Given the description of an element on the screen output the (x, y) to click on. 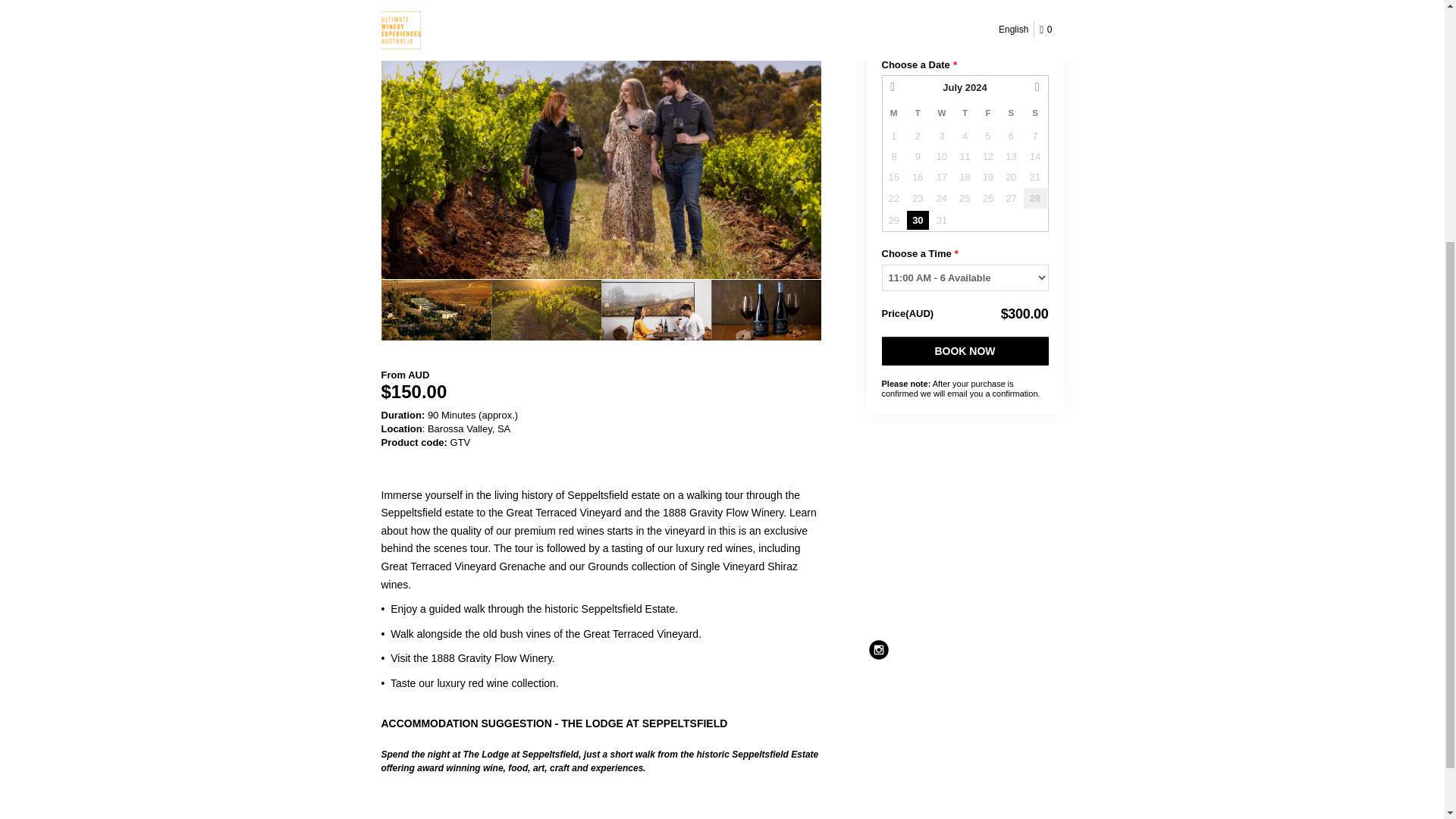
Not available (964, 136)
30 (917, 219)
Not available (964, 156)
Not available (941, 156)
Not available (917, 136)
Not available (1035, 136)
THE LODGE AT SEPPELTSFIELD (643, 723)
BOOK NOW (964, 350)
Not available (893, 136)
Not available (1010, 136)
Not available (941, 136)
Not available (893, 156)
Not available (987, 136)
Not available (917, 156)
